Given the description of an element on the screen output the (x, y) to click on. 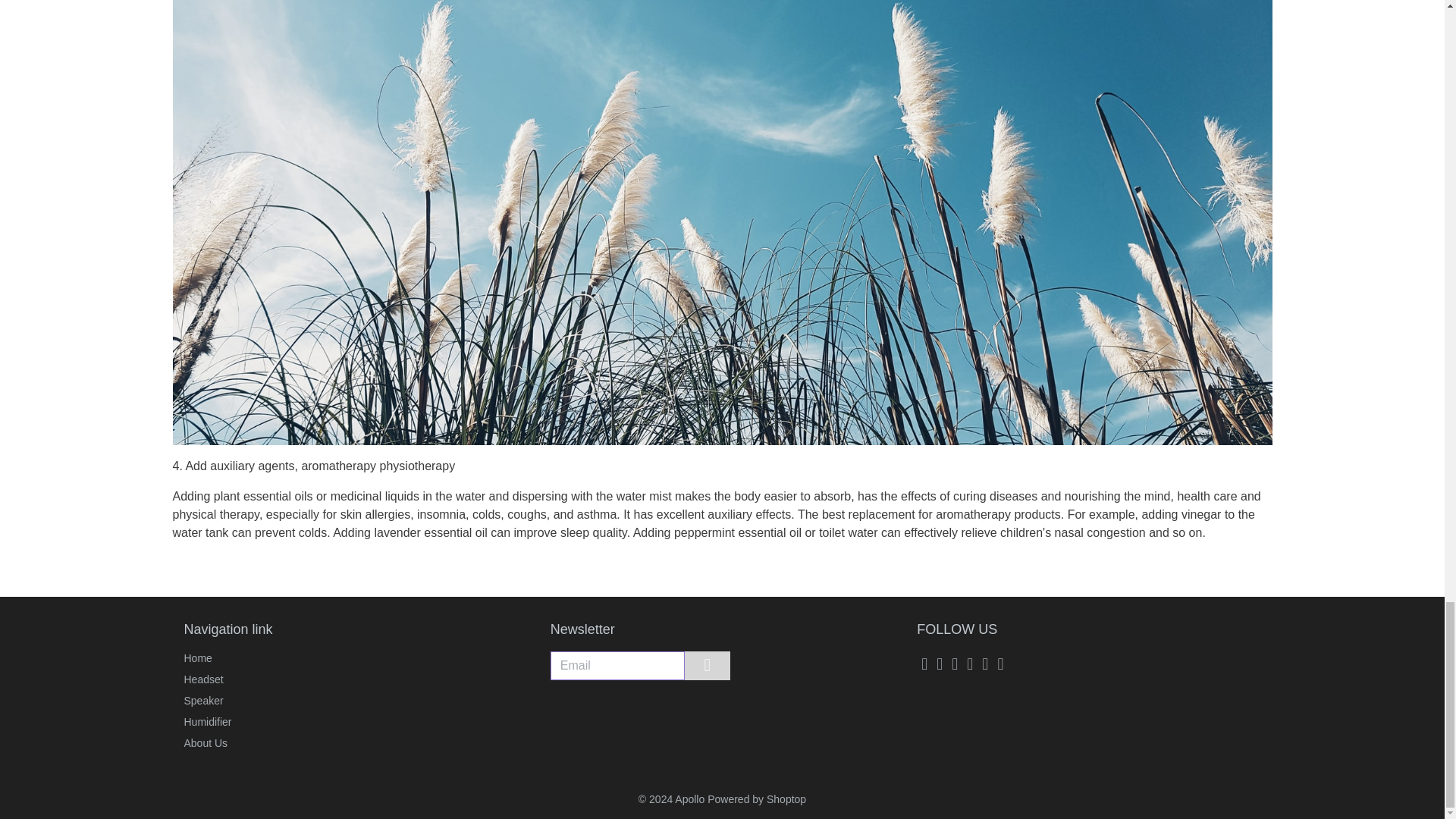
Humidifier (227, 721)
Headset (227, 679)
Speaker (227, 700)
Home (227, 658)
About Us (227, 743)
Powered by Shoptop (756, 799)
